Given the description of an element on the screen output the (x, y) to click on. 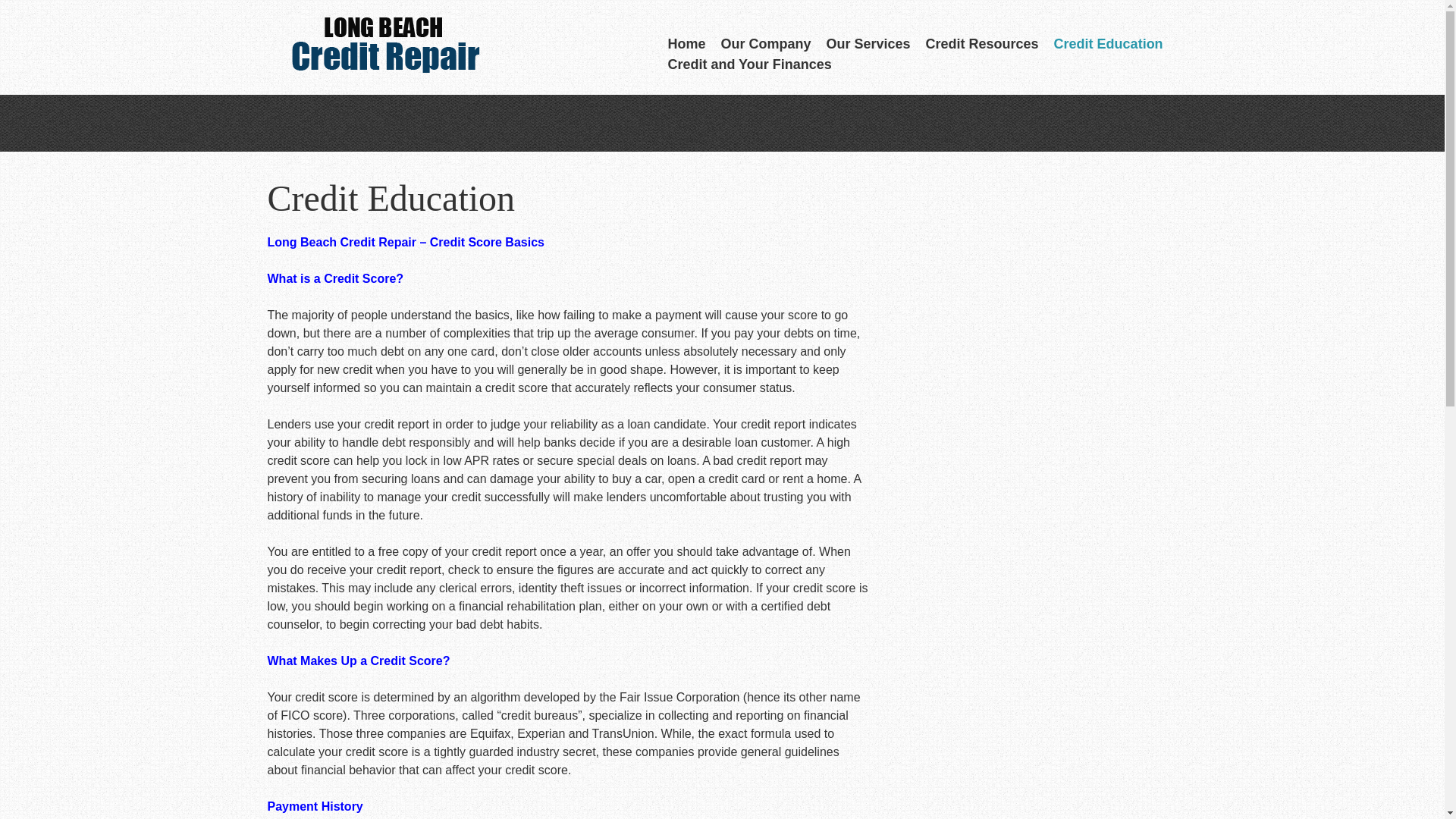
Our Company (765, 44)
Credit and Your Finances (748, 64)
Long Beach Credit Repair (380, 49)
Credit Education (1108, 44)
Home (685, 44)
Credit Resources (982, 44)
Our Services (867, 44)
